Given the description of an element on the screen output the (x, y) to click on. 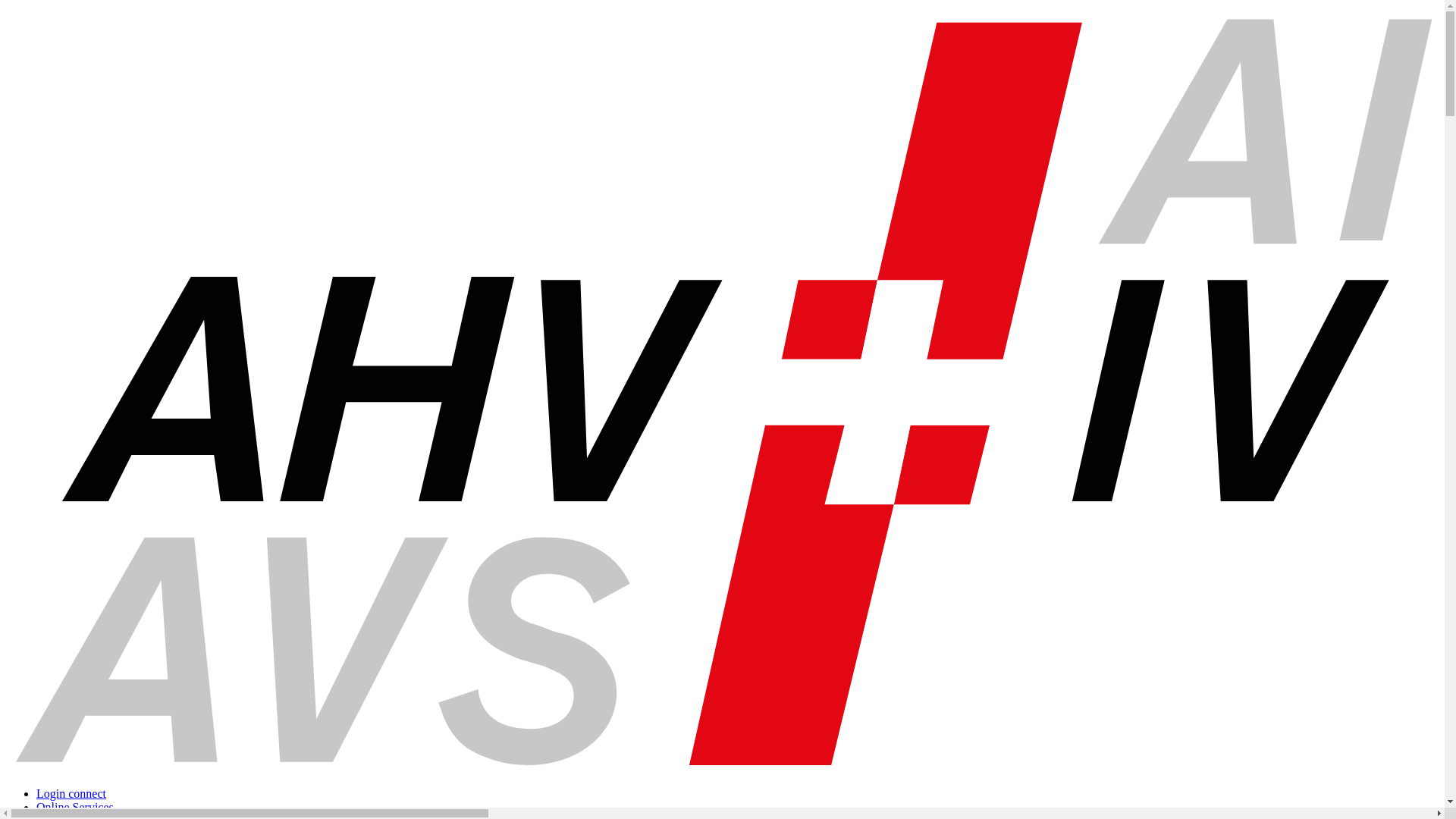
Online Services Element type: text (74, 806)
Login connect Element type: text (71, 793)
